Given the description of an element on the screen output the (x, y) to click on. 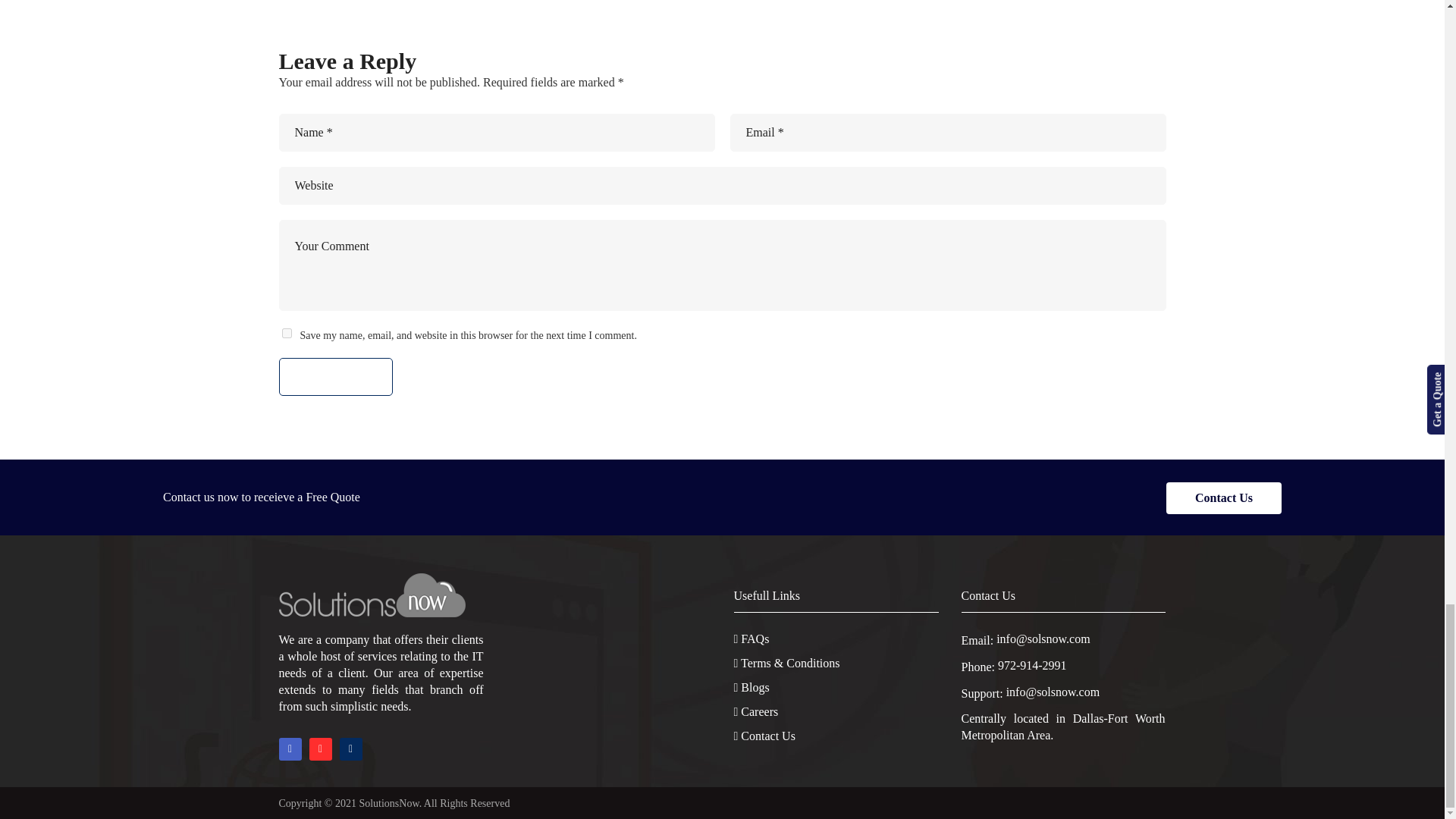
Facebook (290, 748)
Post Comment (336, 376)
Website (722, 185)
yes (287, 333)
linkedIn (319, 748)
